Given the description of an element on the screen output the (x, y) to click on. 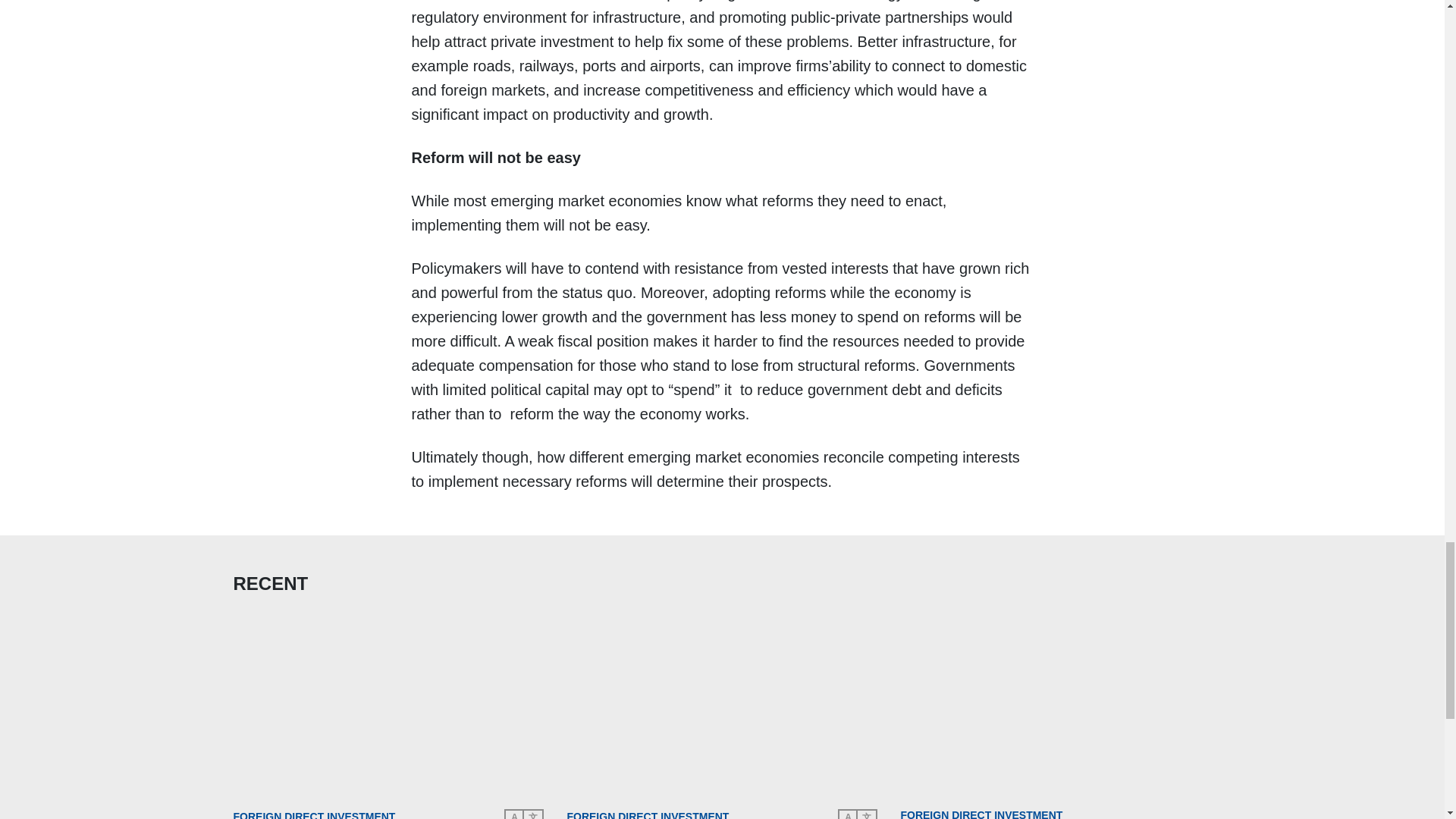
FOREIGN DIRECT INVESTMENT (314, 814)
A (847, 814)
FOREIGN DIRECT INVESTMENT (980, 814)
A (513, 814)
FOREIGN DIRECT INVESTMENT (647, 814)
